Given the description of an element on the screen output the (x, y) to click on. 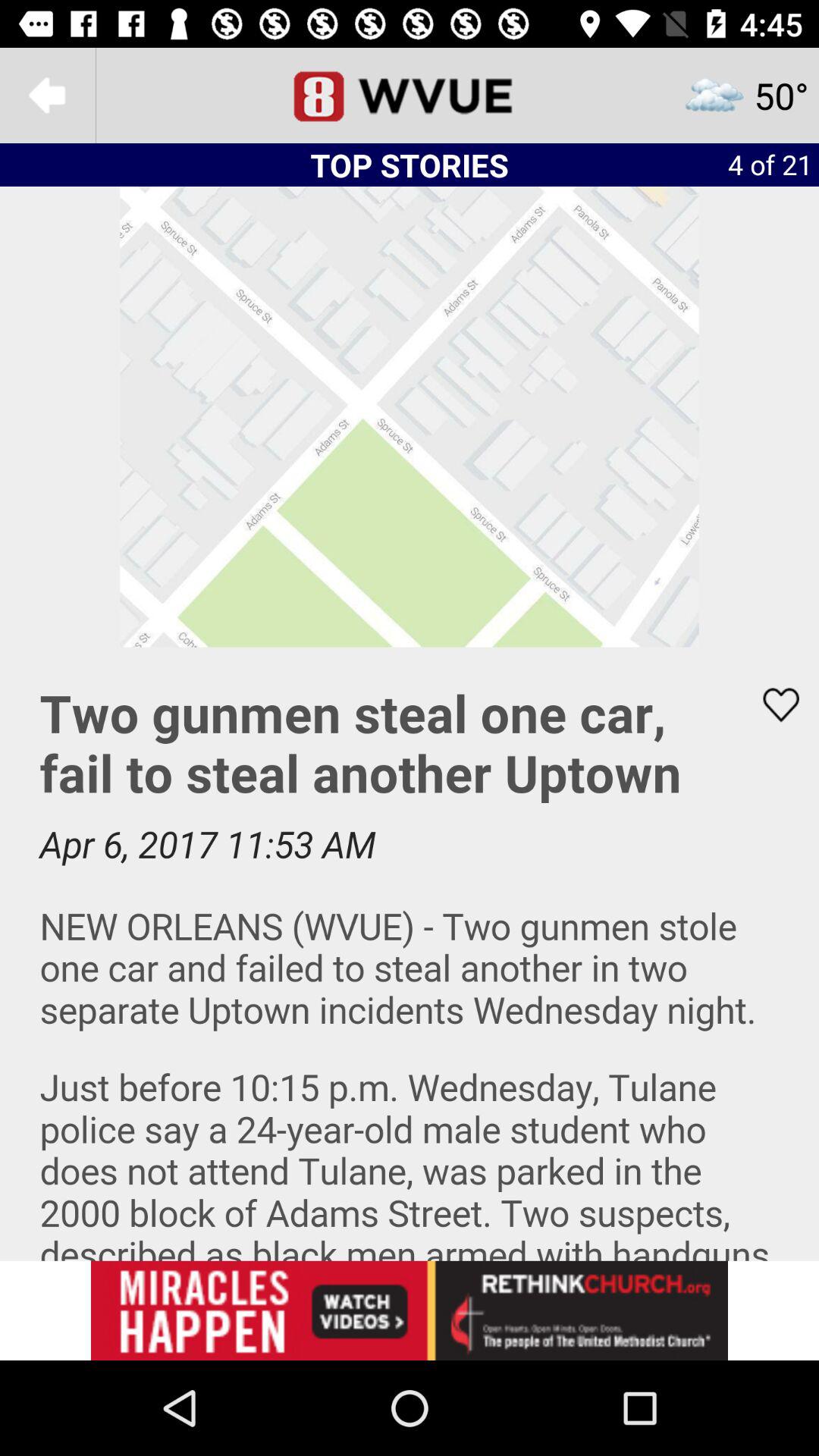
open advertisement (409, 1310)
